Given the description of an element on the screen output the (x, y) to click on. 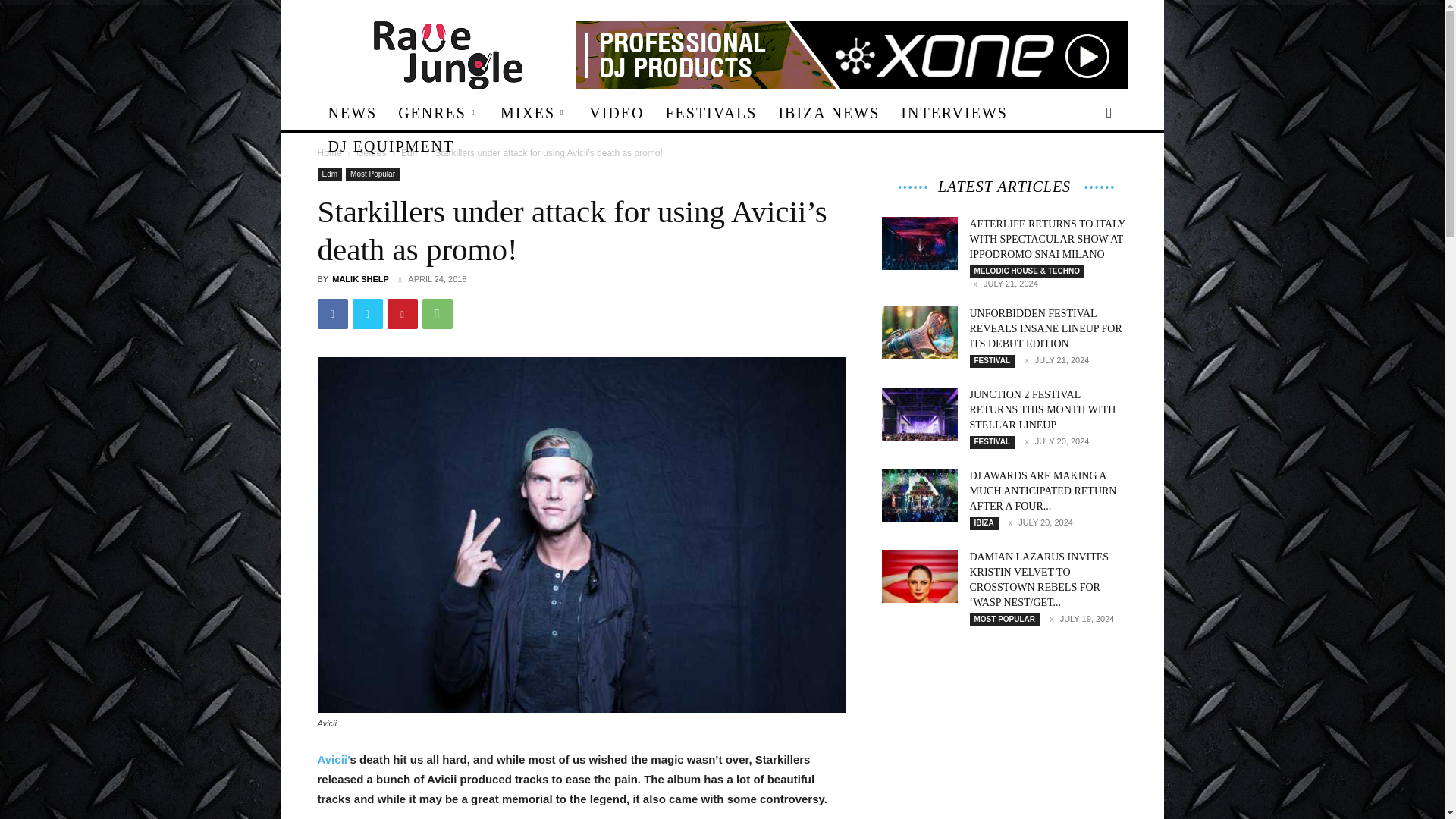
NEWS (352, 112)
GENRES (438, 112)
